Given the description of an element on the screen output the (x, y) to click on. 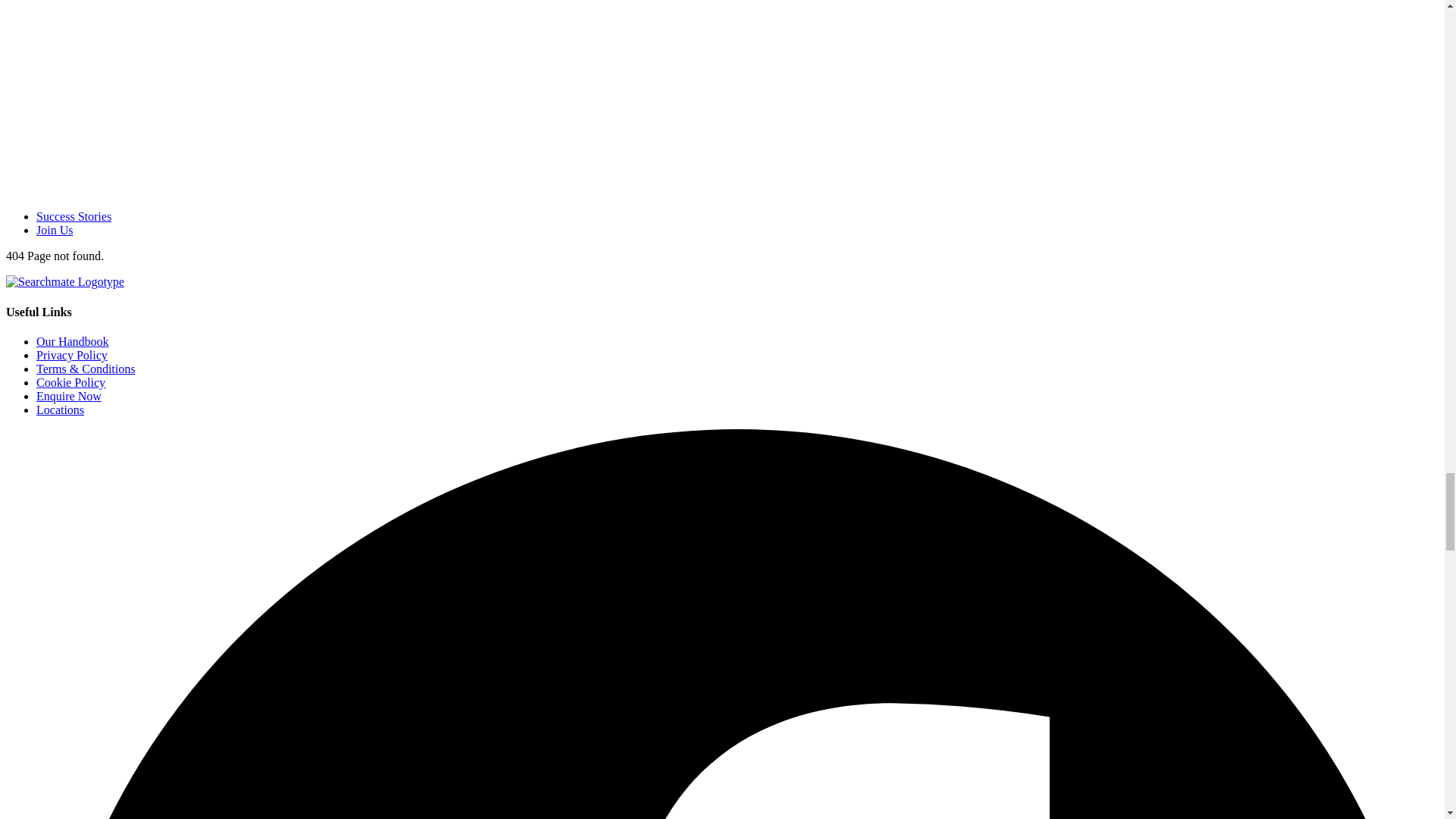
Privacy Policy (71, 354)
Cookie Policy (70, 382)
Locations (60, 409)
Join Us (54, 229)
Success Stories (74, 215)
Enquire Now (68, 395)
Our Handbook (72, 341)
